Given the description of an element on the screen output the (x, y) to click on. 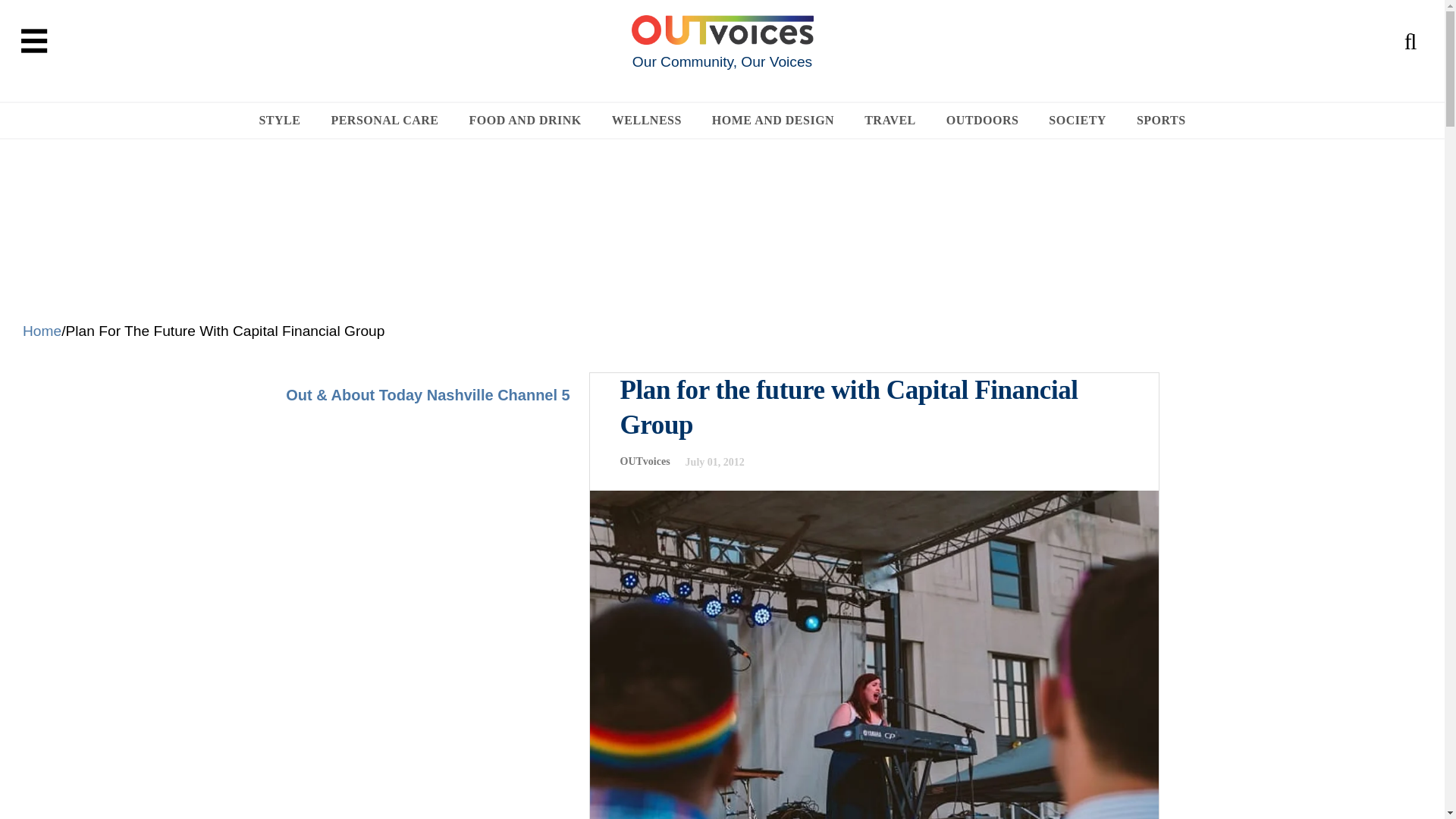
YouTube video player (427, 553)
